Given the description of an element on the screen output the (x, y) to click on. 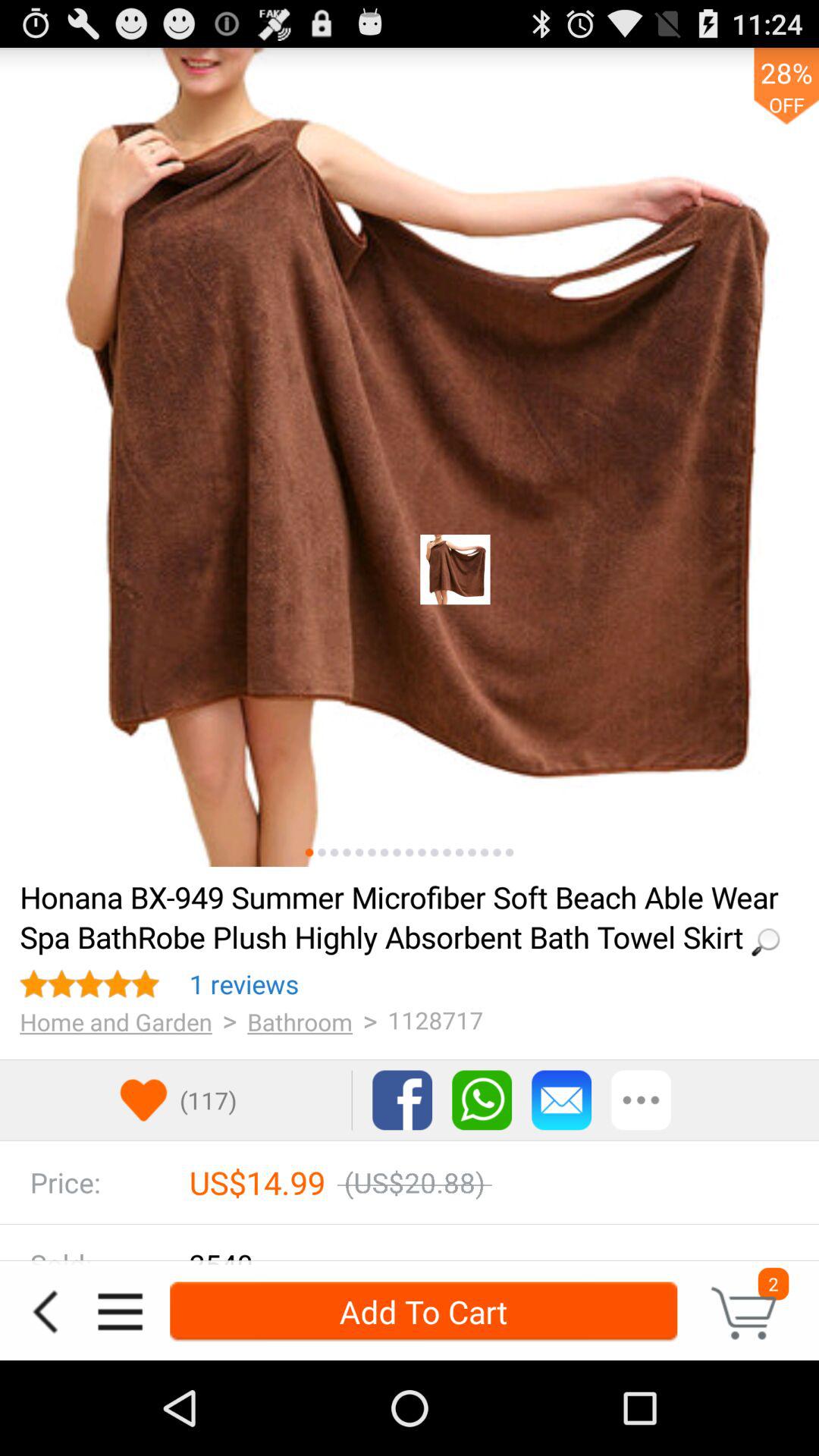
view next photograph (497, 852)
